Given the description of an element on the screen output the (x, y) to click on. 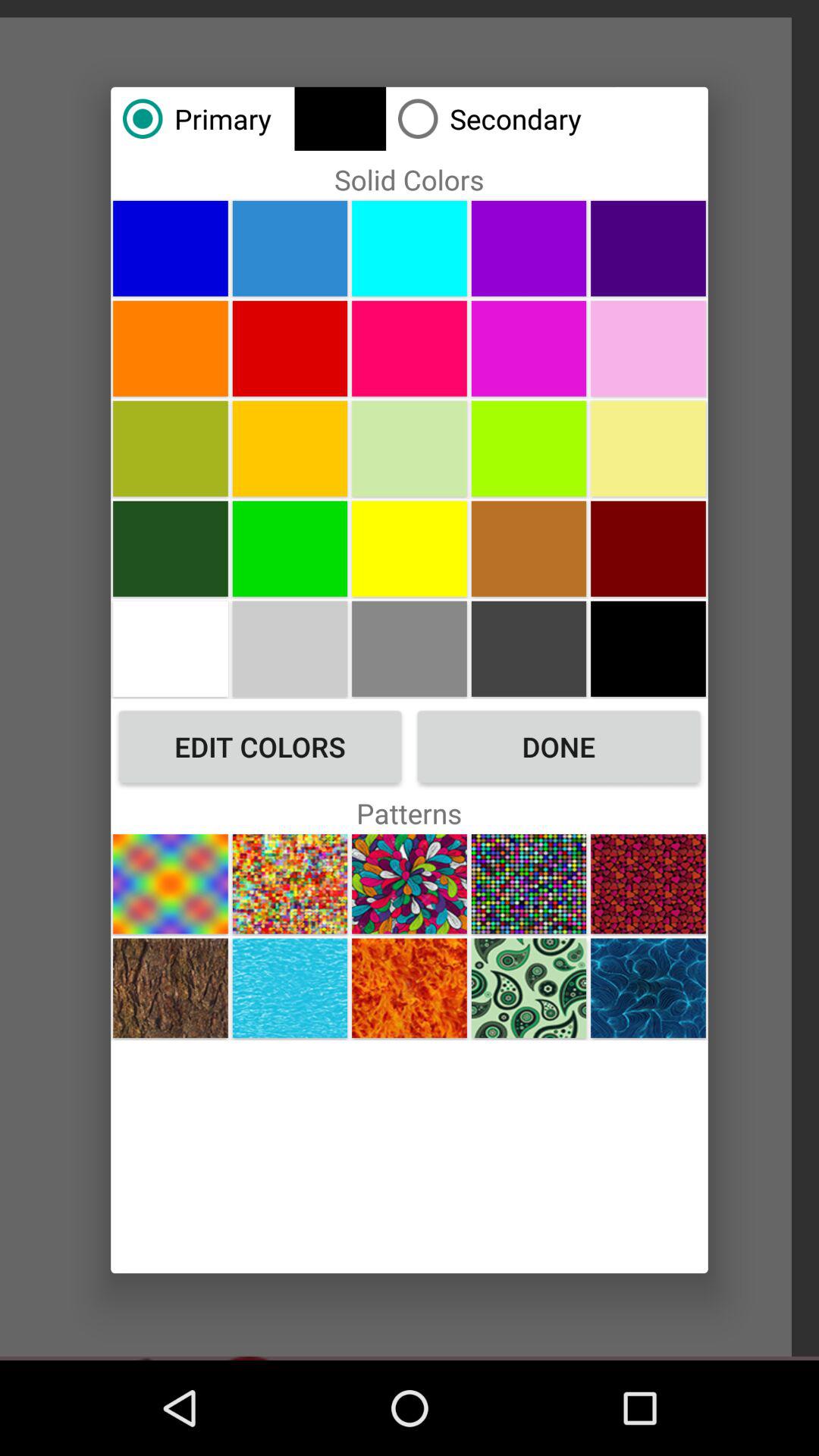
bright yellow color selection (409, 548)
